Given the description of an element on the screen output the (x, y) to click on. 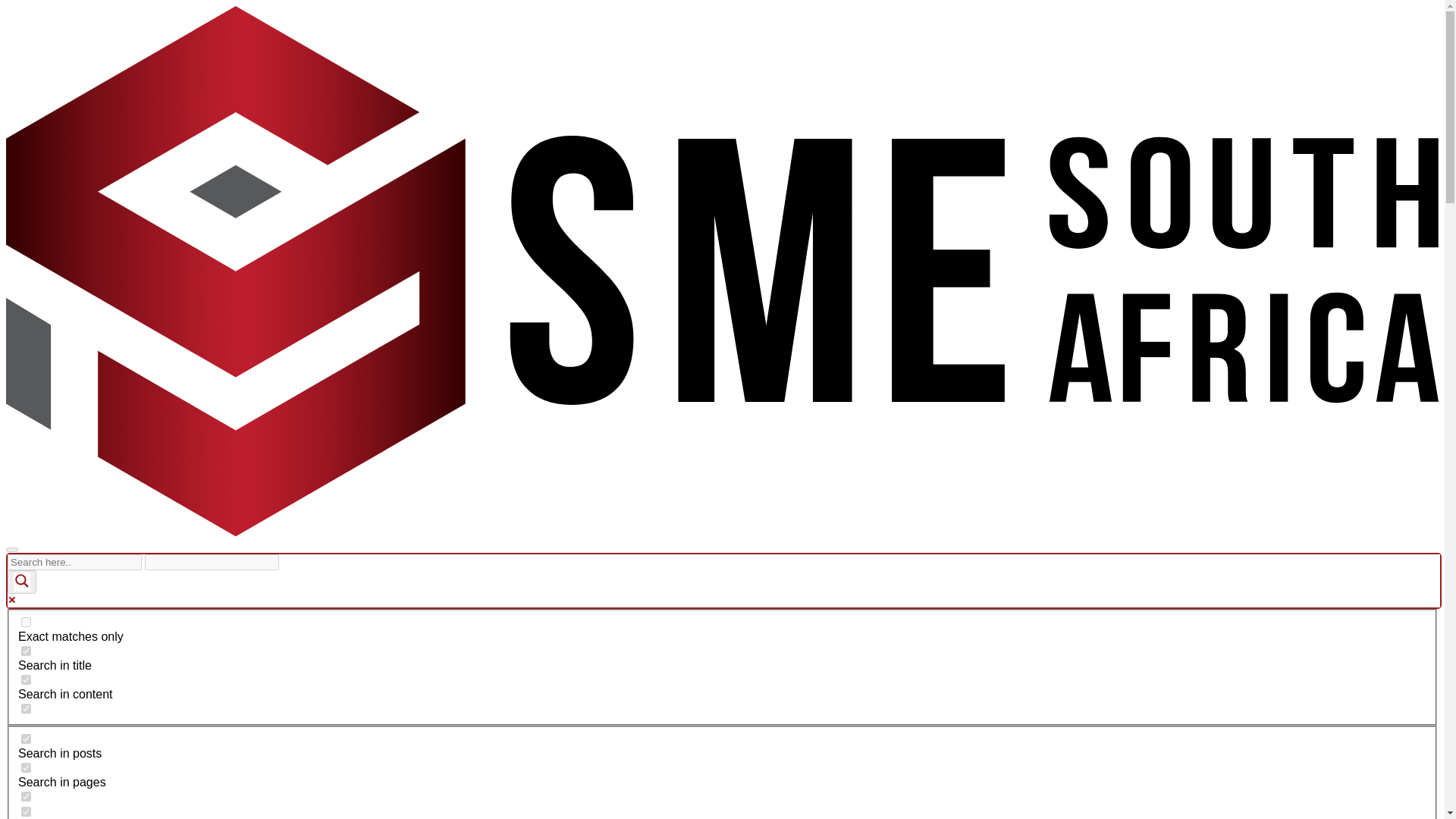
exact (25, 622)
excerpt (25, 708)
reviews (25, 811)
content (25, 679)
title (25, 651)
page (25, 767)
Start search (288, 556)
post (25, 738)
resources (25, 796)
